Given the description of an element on the screen output the (x, y) to click on. 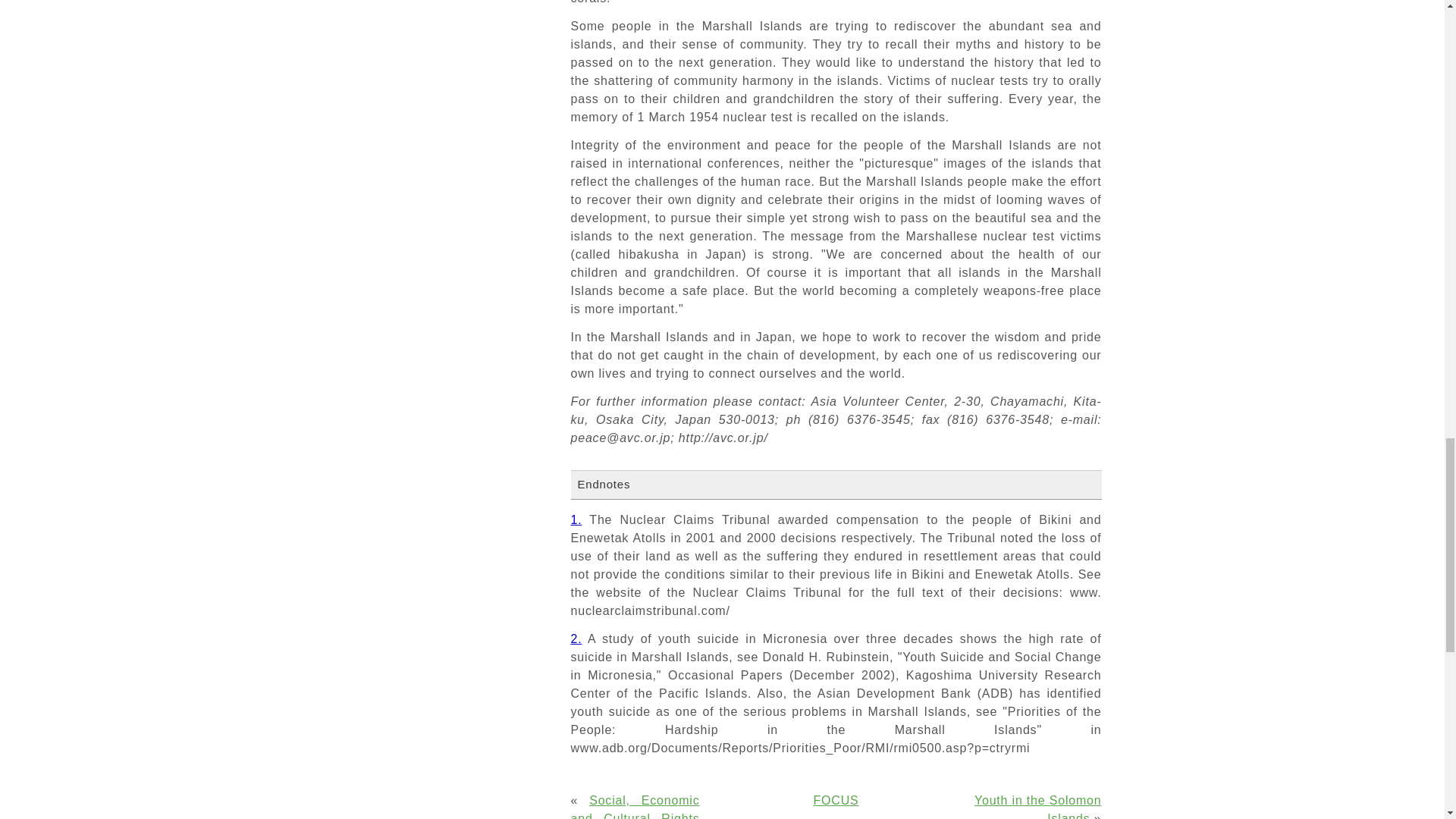
Social, Economic and Cultural Rights in Burma (634, 806)
FOCUS (835, 799)
Youth in the Solomon Islands (1038, 806)
